Given the description of an element on the screen output the (x, y) to click on. 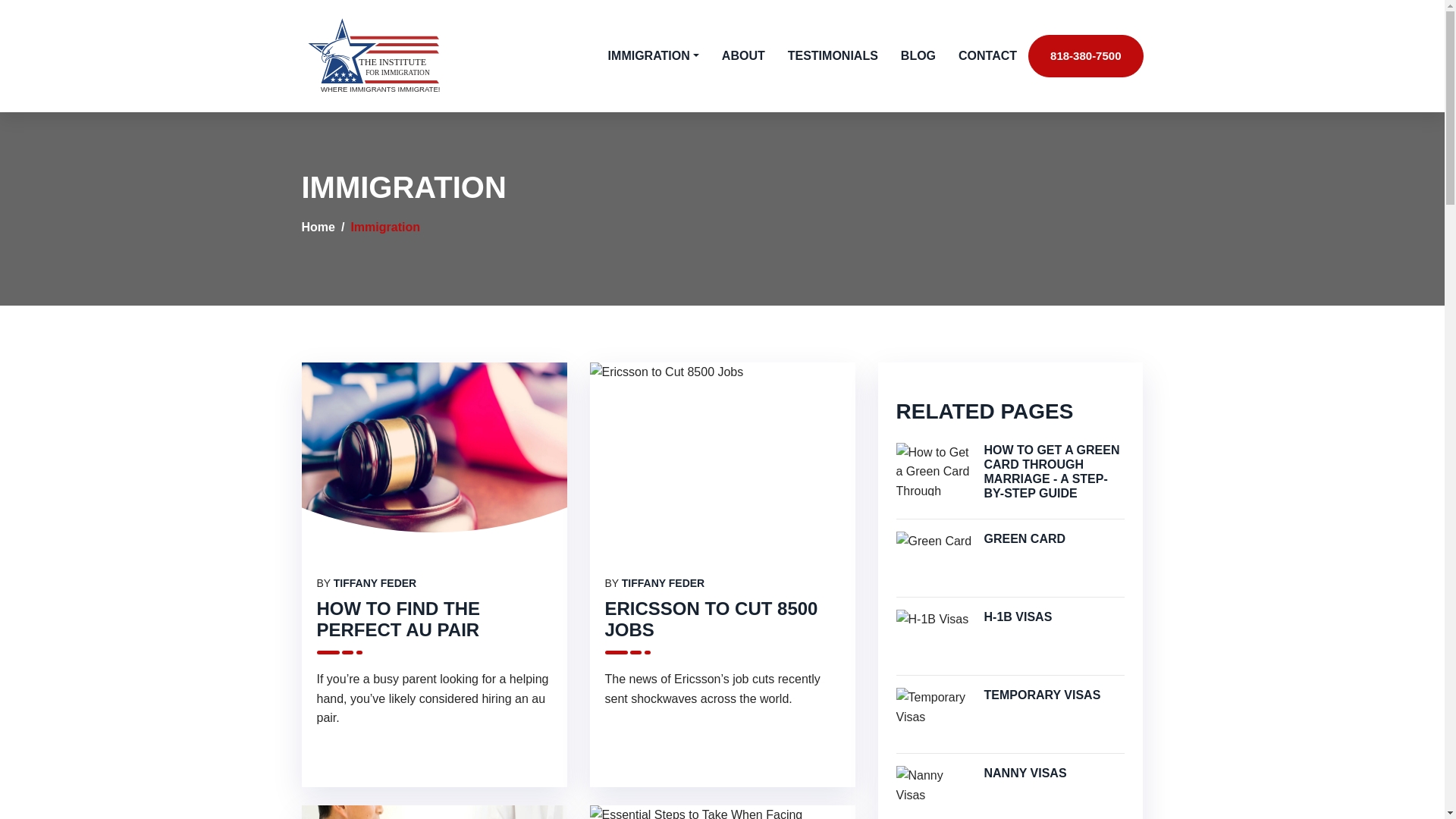
TESTIMONIALS (832, 55)
HOW TO FIND THE PERFECT AU PAIR (398, 618)
CONTACT (987, 55)
ERICSSON TO CUT 8500 JOBS (711, 618)
Home (317, 226)
818-380-7500 (1084, 55)
GREEN CARD (1054, 538)
H-1B VISAS (1054, 616)
TEMPORARY VISAS (1054, 694)
IMMIGRATION (653, 55)
NANNY VISAS (1054, 772)
